Given the description of an element on the screen output the (x, y) to click on. 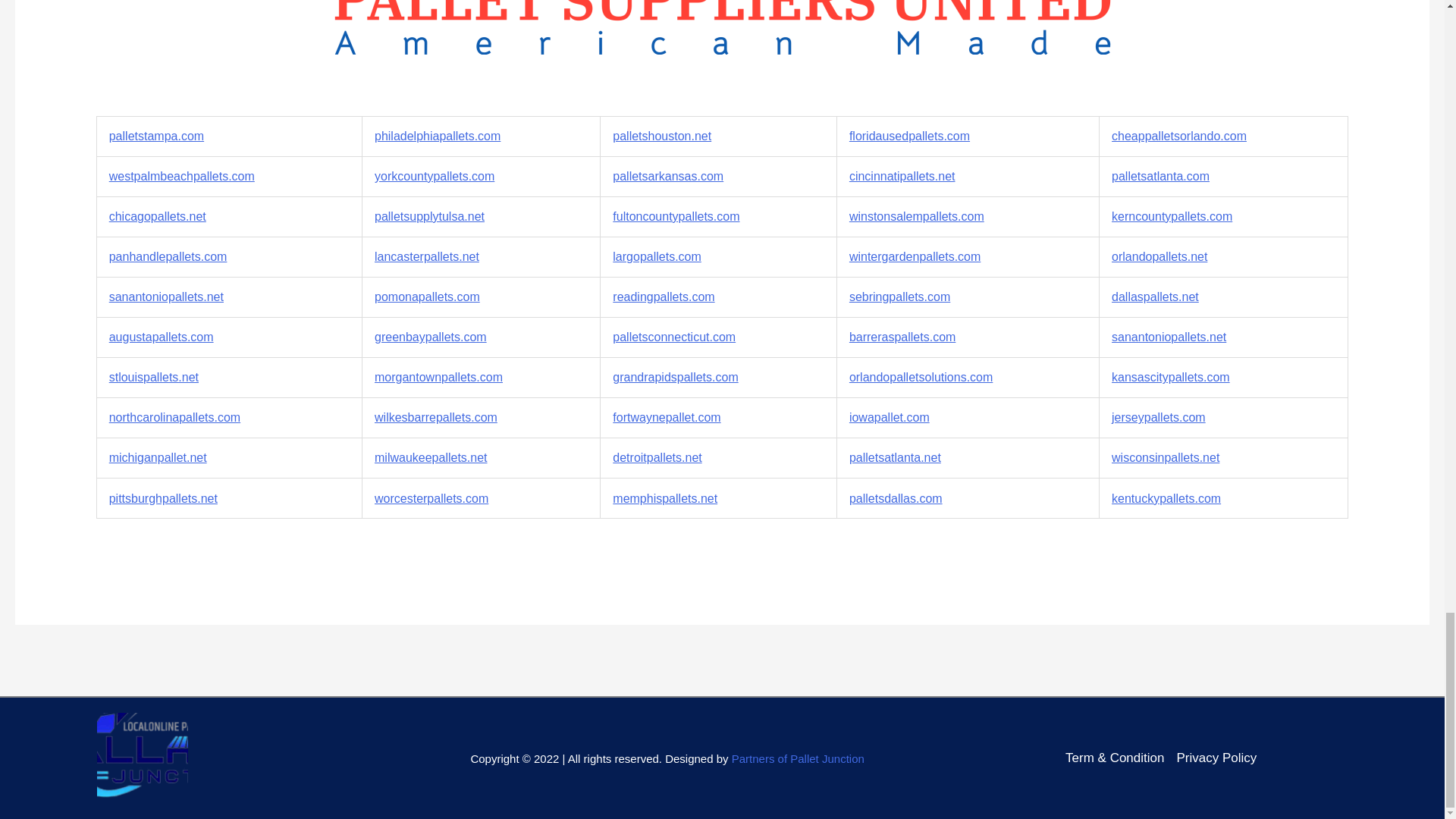
philadelphiapallets.com (437, 135)
yorkcountypallets.com (434, 175)
lancasterpallets.net (426, 256)
westpalmbeachpallets.com (181, 175)
palletsupplytulsa.net (429, 215)
fultoncountypallets.com (675, 215)
palletstampa.com (156, 135)
cheappalletsorlando.com (1179, 135)
chicagopallets.net (157, 215)
palletshouston.net (661, 135)
cincinnatipallets.net (901, 175)
panhandlepallets.com (168, 256)
wintergardenpallets.com (913, 256)
palletsatlanta.com (1160, 175)
floridausedpallets.com (908, 135)
